Given the description of an element on the screen output the (x, y) to click on. 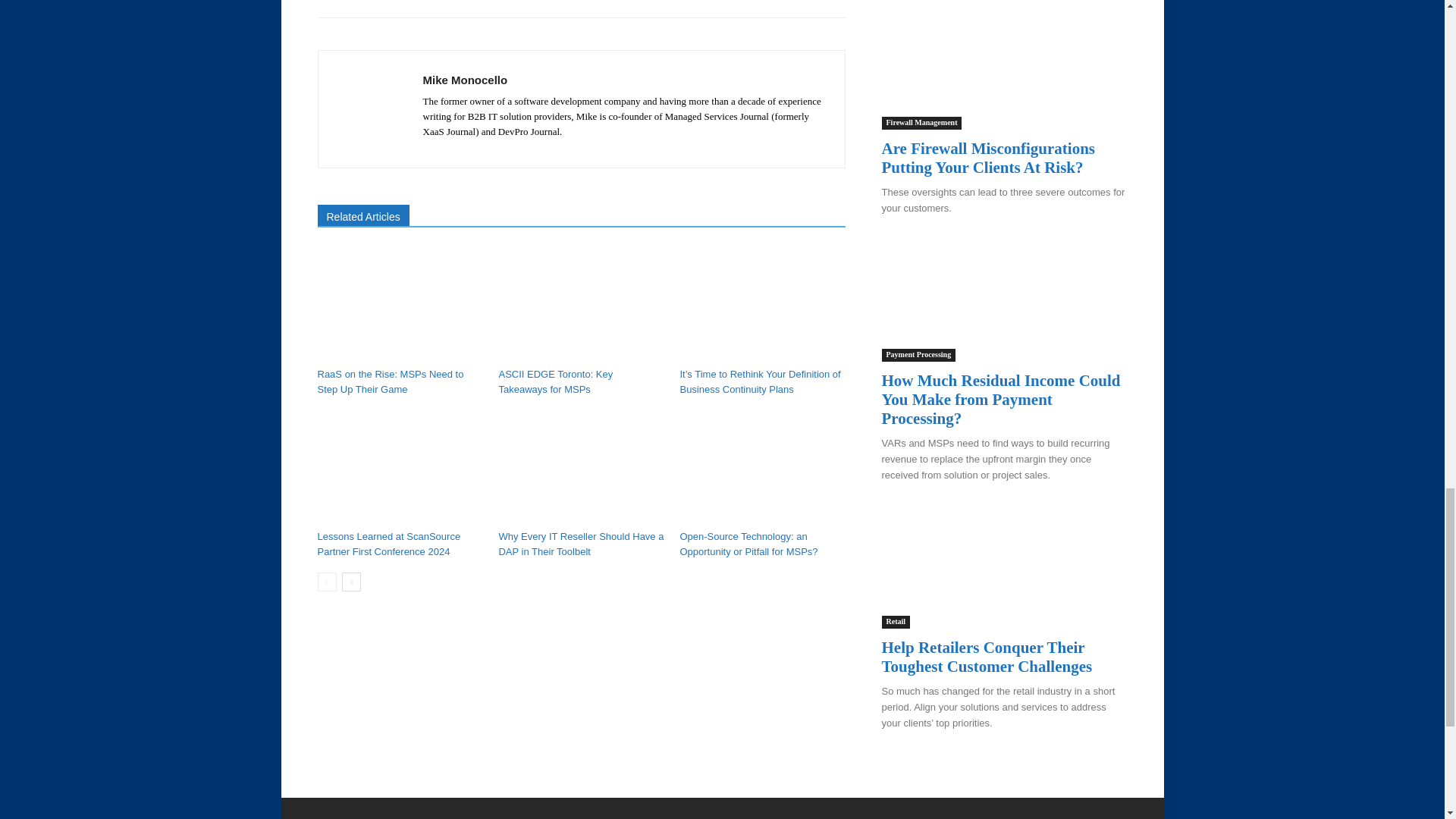
ASCII EDGE Toronto: Key Takeaways for MSPs (554, 381)
ASCII EDGE Toronto: Key Takeaways for MSPs (580, 304)
RaaS on the Rise: MSPs Need to Step Up Their Game (390, 381)
RaaS on the Rise: MSPs Need to Step Up Their Game (399, 304)
